Given the description of an element on the screen output the (x, y) to click on. 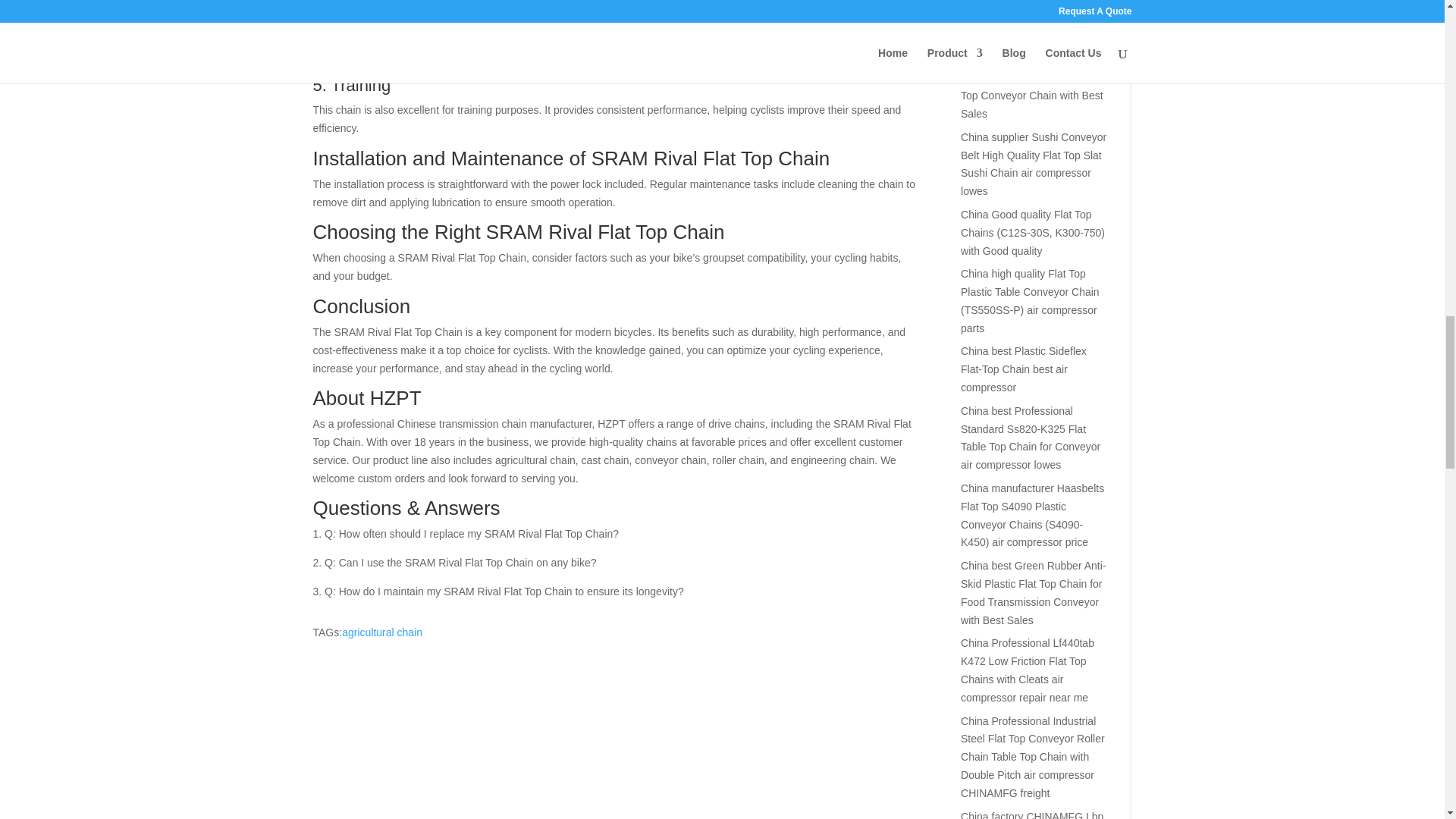
agricultural chain (382, 632)
